Given the description of an element on the screen output the (x, y) to click on. 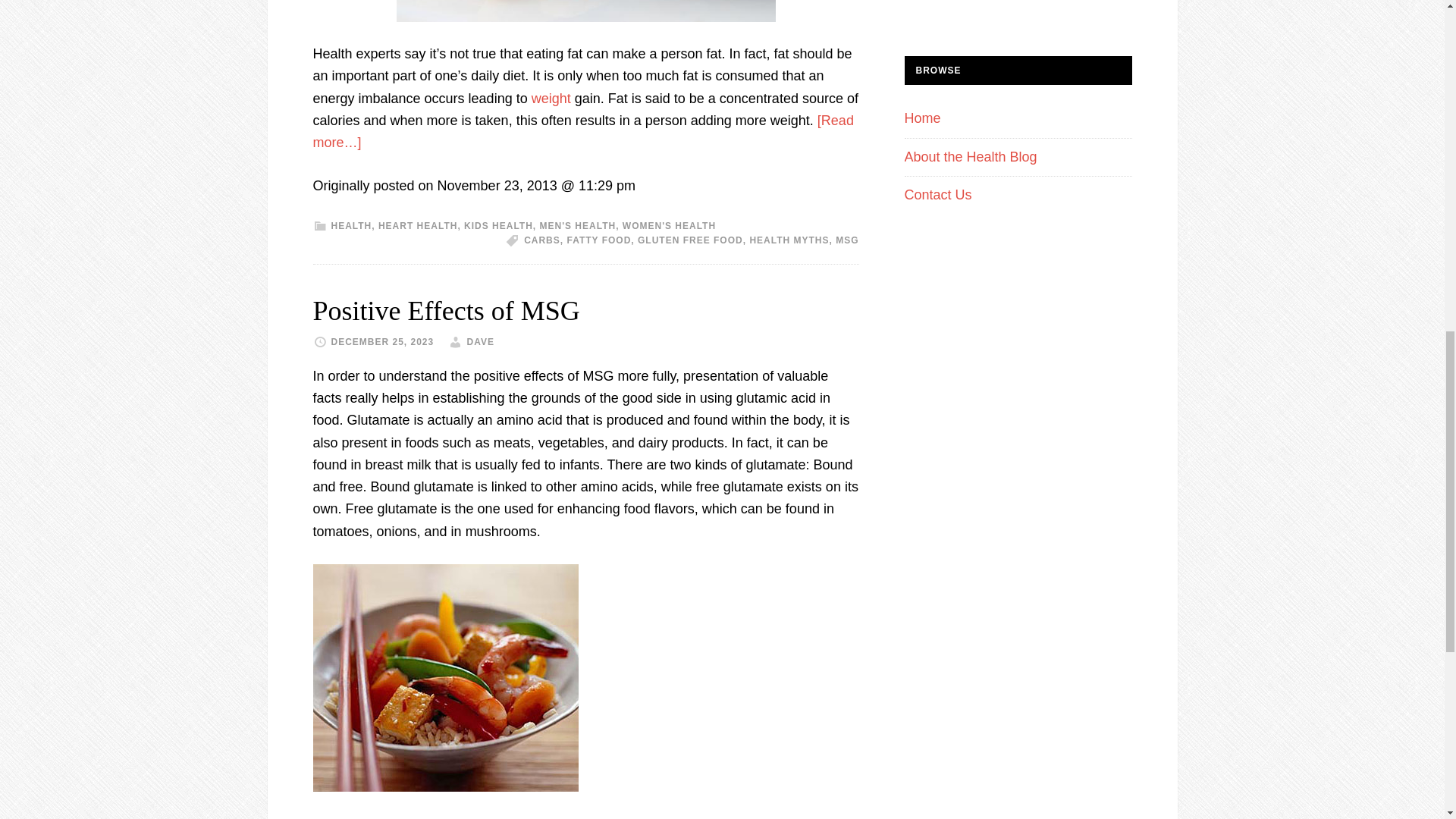
GLUTEN FREE FOOD (689, 240)
Positive Effects of MSG (446, 310)
DAVE (481, 341)
CARBS (542, 240)
KIDS HEALTH (498, 225)
MSG (847, 240)
MEN'S HEALTH (577, 225)
Home (922, 118)
Contact Us (937, 194)
HEART HEALTH (417, 225)
